Given the description of an element on the screen output the (x, y) to click on. 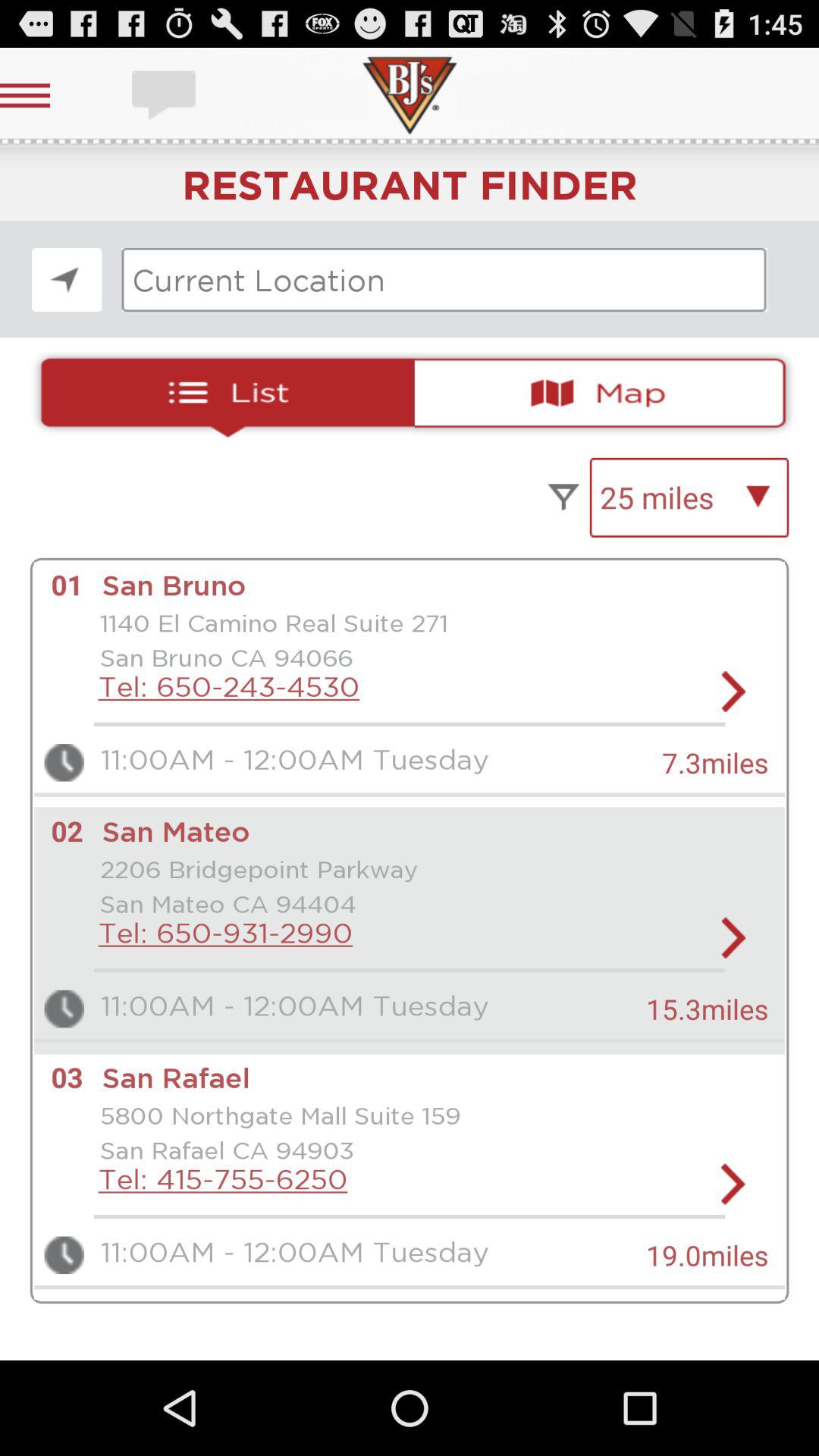
see map (606, 392)
